Given the description of an element on the screen output the (x, y) to click on. 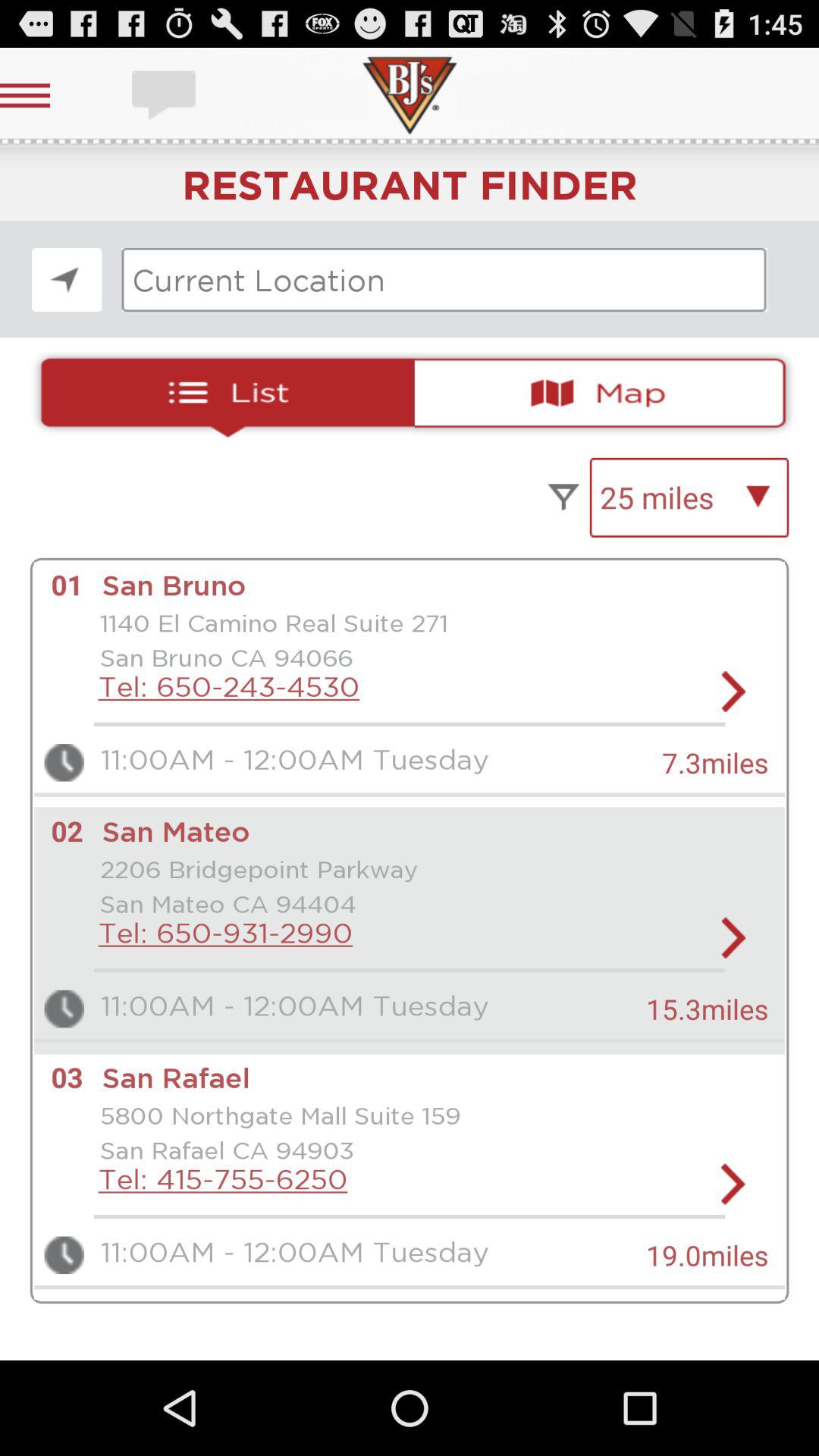
see map (606, 392)
